Given the description of an element on the screen output the (x, y) to click on. 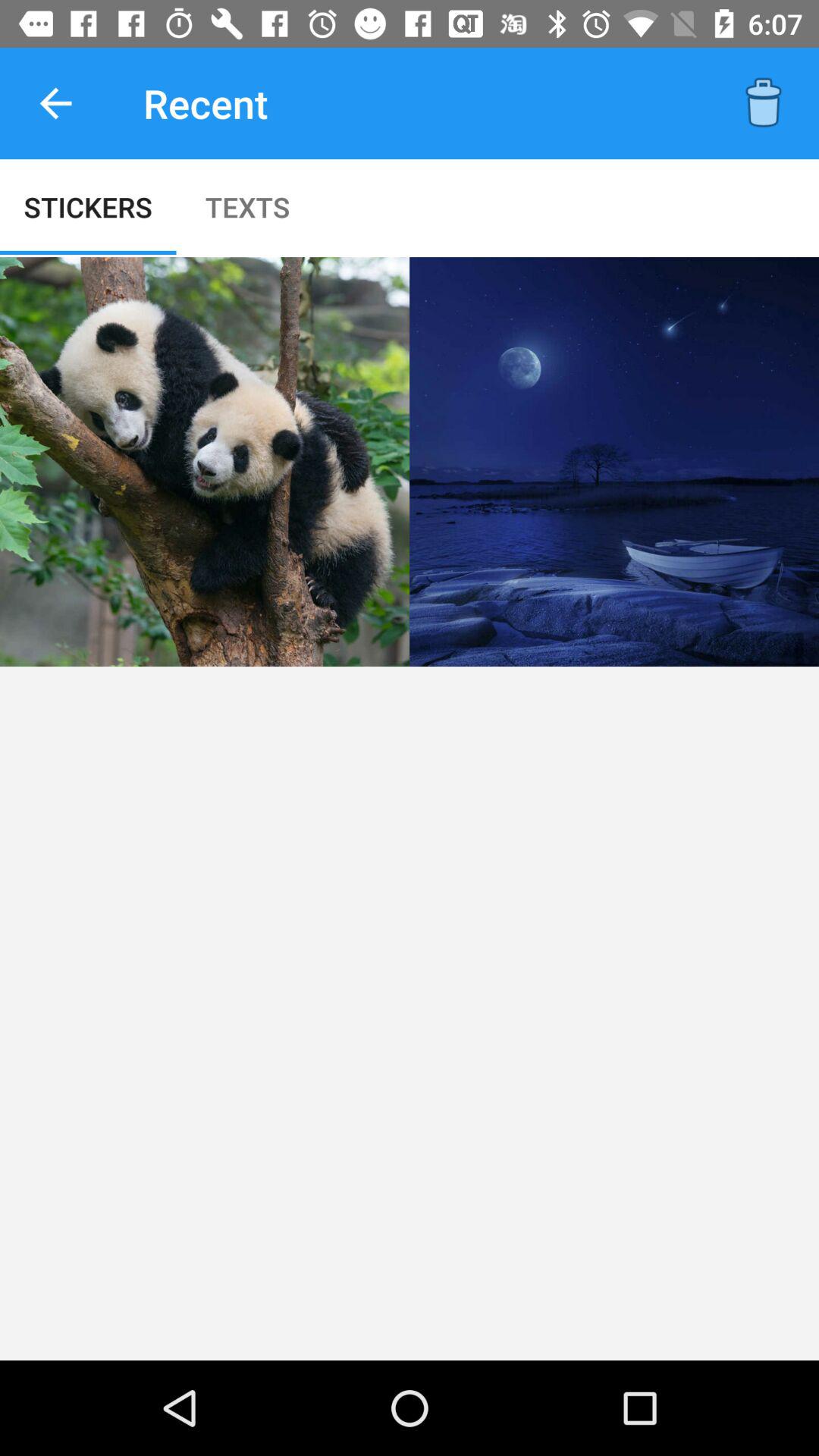
launch icon to the left of the recent item (55, 103)
